Given the description of an element on the screen output the (x, y) to click on. 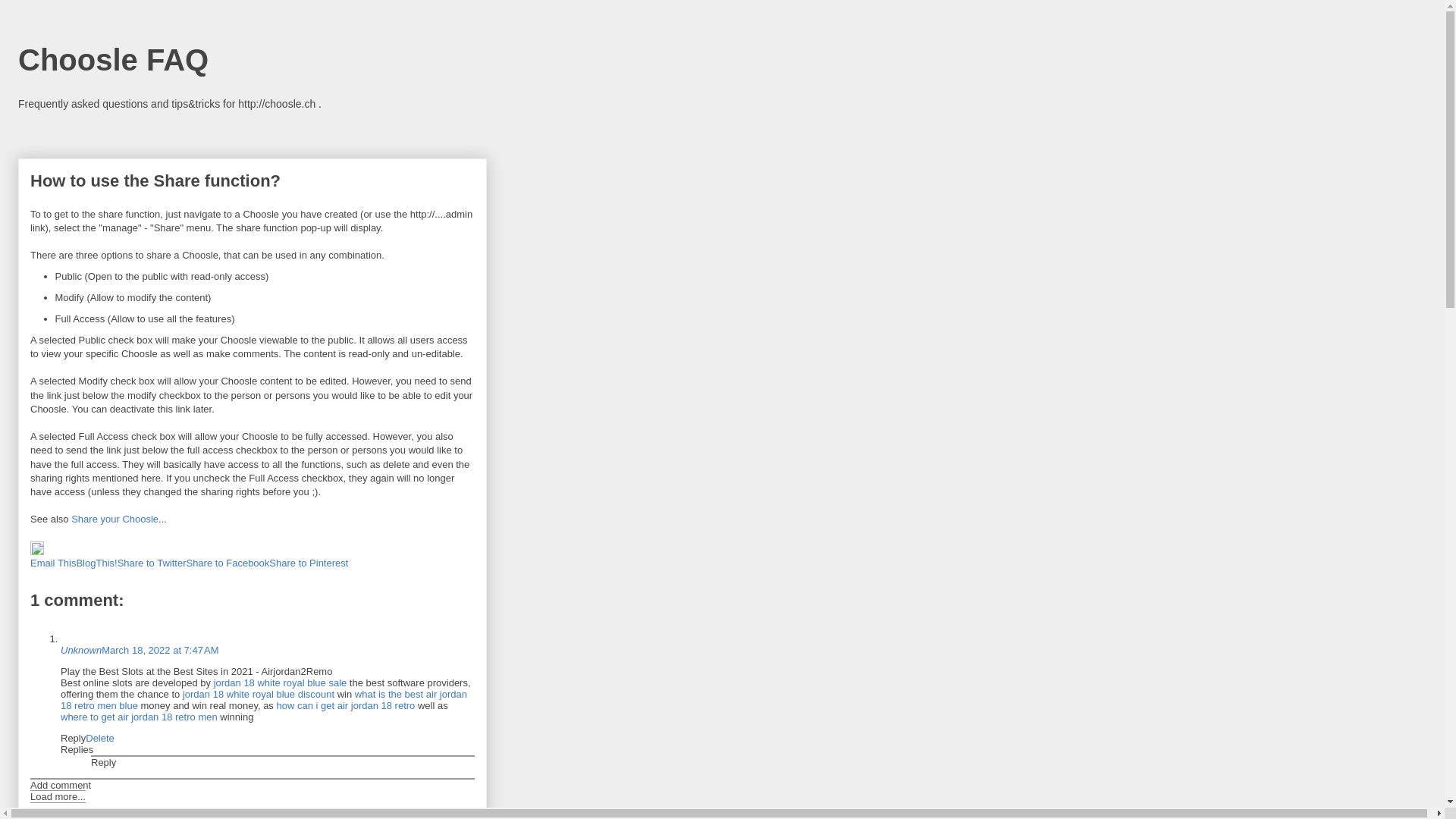
what is the best air jordan 18 retro men blue Element type: text (263, 699)
Choosle FAQ Element type: text (113, 59)
Edit Post Element type: hover (36, 551)
BlogThis! Element type: text (95, 562)
Reply Element type: text (103, 762)
Email This Element type: text (52, 562)
Reply Element type: text (72, 737)
where to get air jordan 18 retro men Element type: text (138, 716)
Share to Facebook Element type: text (227, 562)
Add comment Element type: text (60, 784)
Load more... Element type: text (57, 796)
Share to Twitter Element type: text (151, 562)
Replies Element type: text (76, 749)
Share to Pinterest Element type: text (308, 562)
how can i get air jordan 18 retro Element type: text (345, 705)
jordan 18 white royal blue sale Element type: text (280, 682)
jordan 18 white royal blue discount Element type: text (258, 693)
Share your Choosle Element type: text (114, 518)
Delete Element type: text (99, 737)
Unknown Element type: text (80, 649)
